Given the description of an element on the screen output the (x, y) to click on. 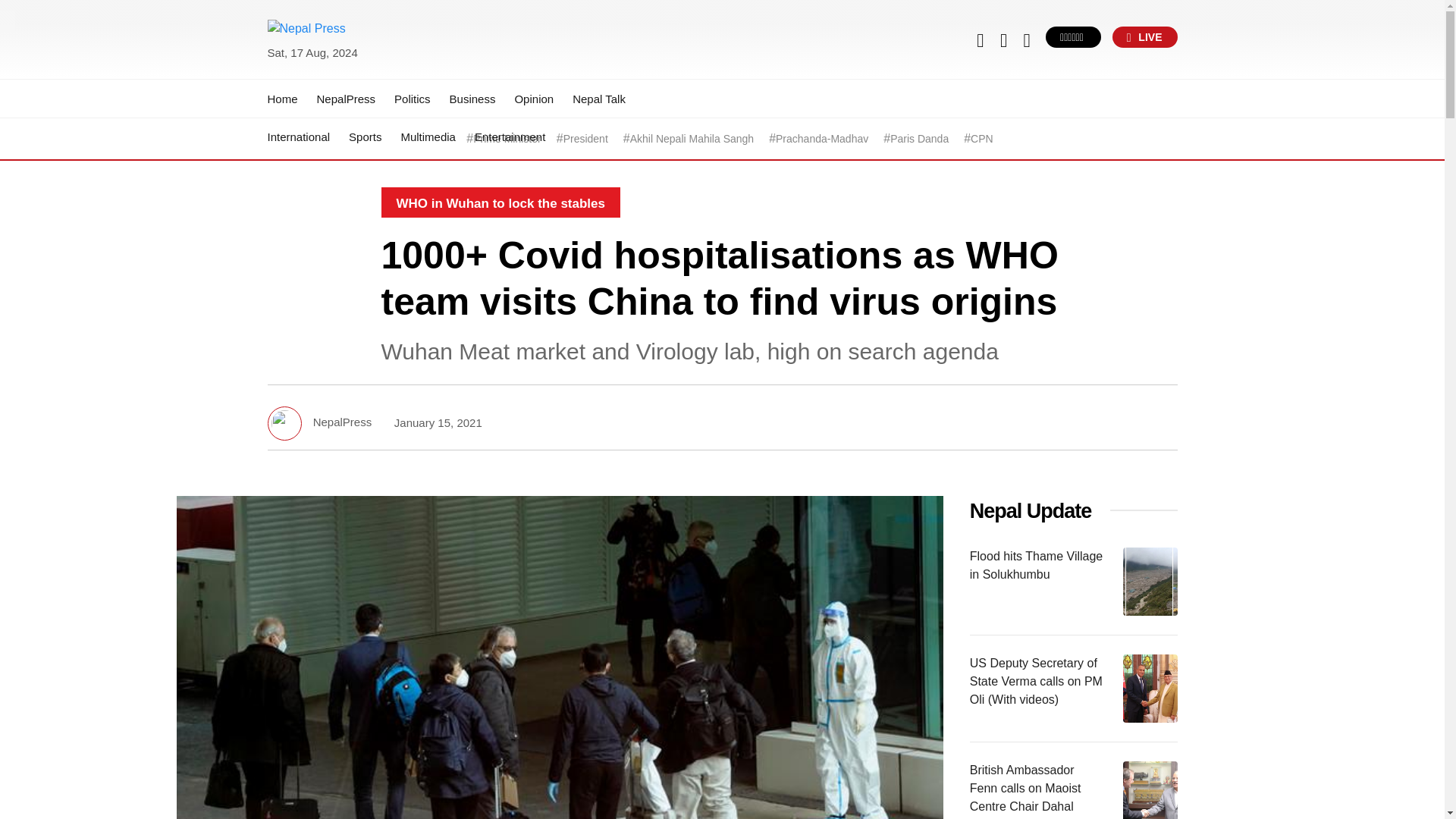
Akhil Nepali Mahila Sangh (692, 139)
CPN (981, 139)
Business (472, 98)
Prime Minister (506, 139)
Paris Danda (919, 139)
Paris Danda (919, 139)
LIVE (1144, 36)
Nepal Talk (599, 98)
CPN (981, 139)
Prime Minister (506, 139)
